Given the description of an element on the screen output the (x, y) to click on. 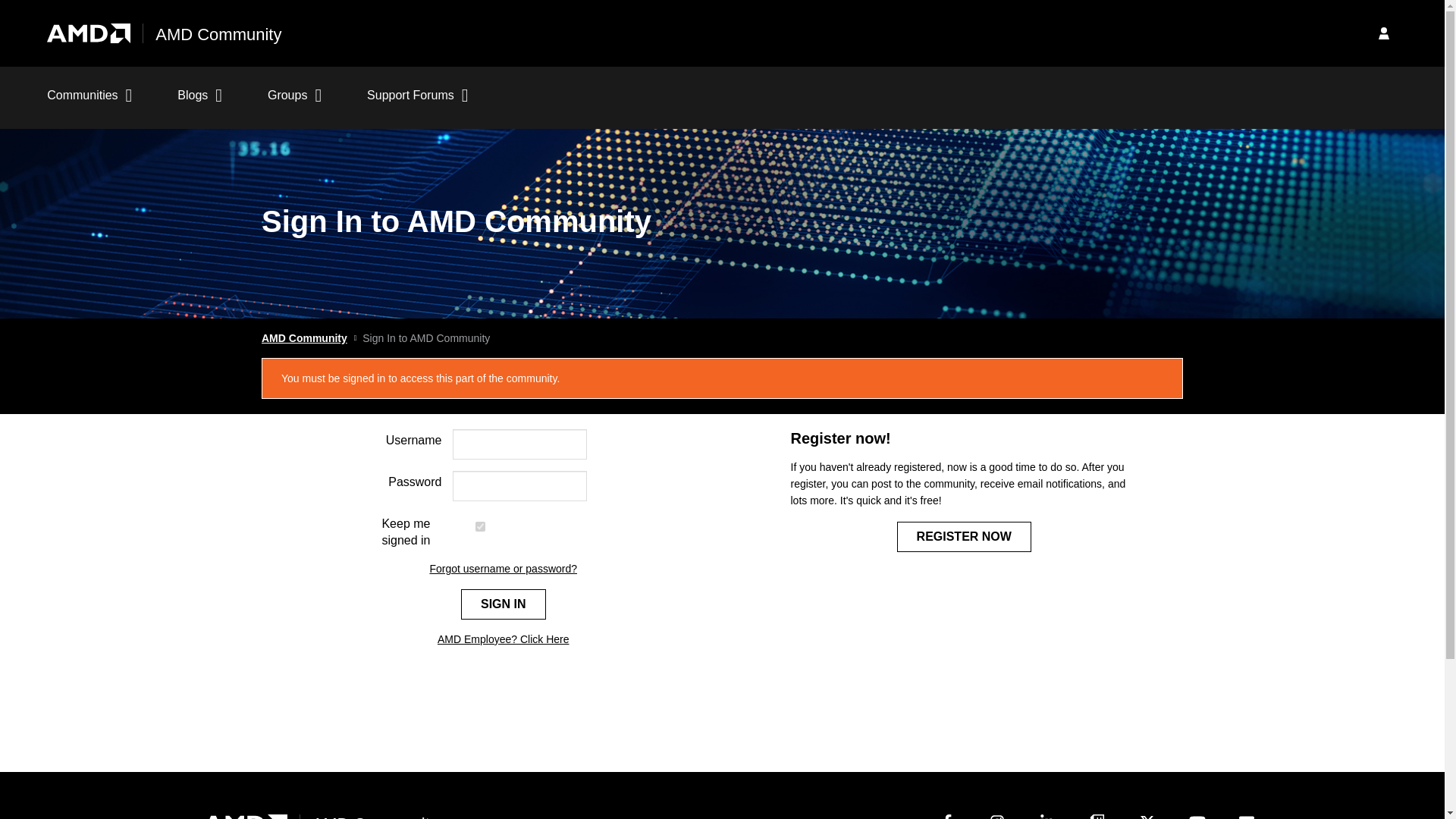
AMD Community (304, 337)
Sign In (503, 603)
AMD Employee? Click Here (503, 639)
Groups (294, 103)
Communities (89, 103)
Forgot username or password? (502, 568)
AMD Community (218, 34)
Register Now (963, 536)
AMD Logo (244, 815)
Sign In (1383, 32)
on (480, 526)
Support Forums (416, 103)
Register Now (963, 536)
Sign In (503, 603)
AMD Logo (88, 32)
